Given the description of an element on the screen output the (x, y) to click on. 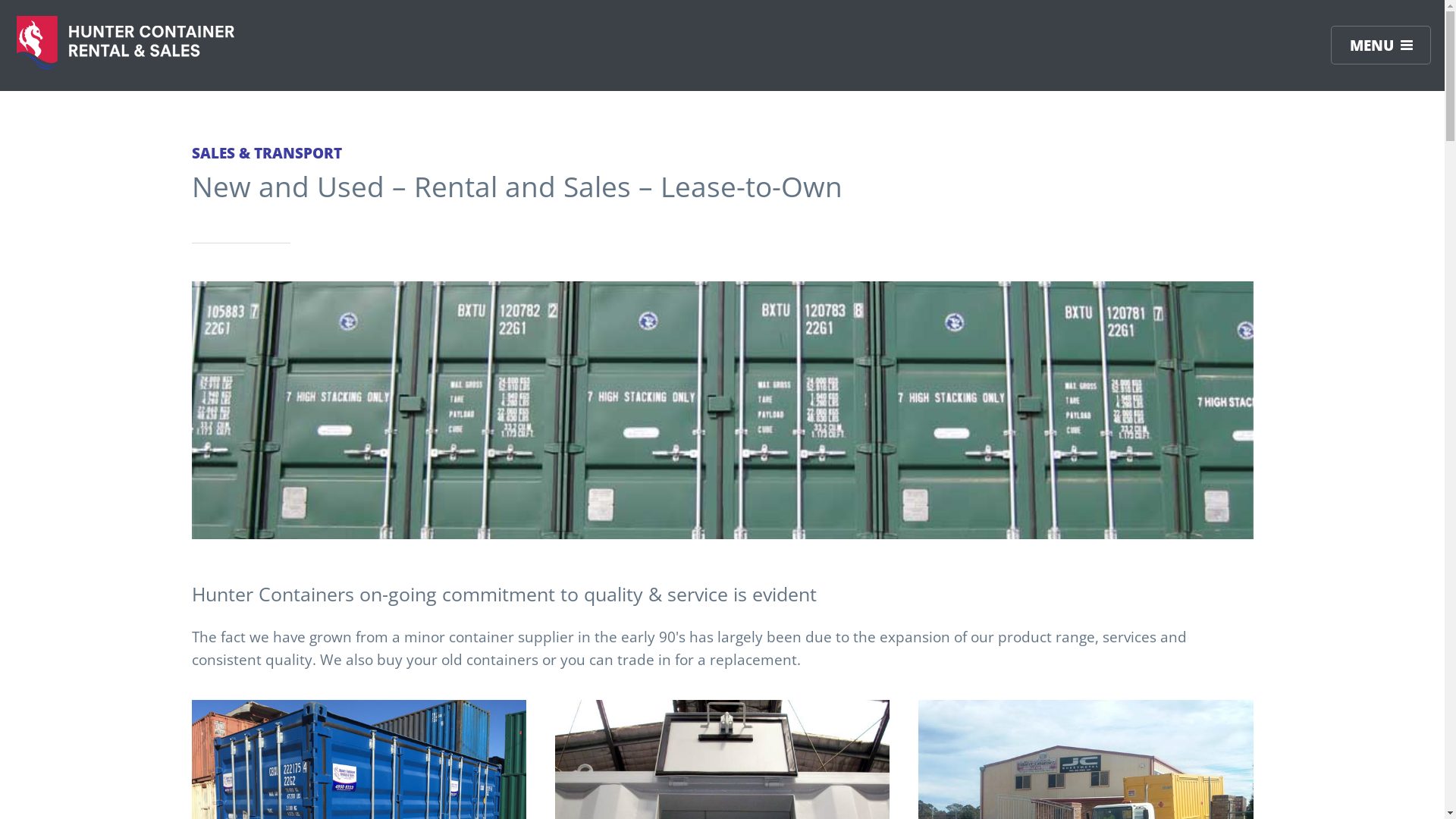
MENU Element type: text (1380, 44)
